Given the description of an element on the screen output the (x, y) to click on. 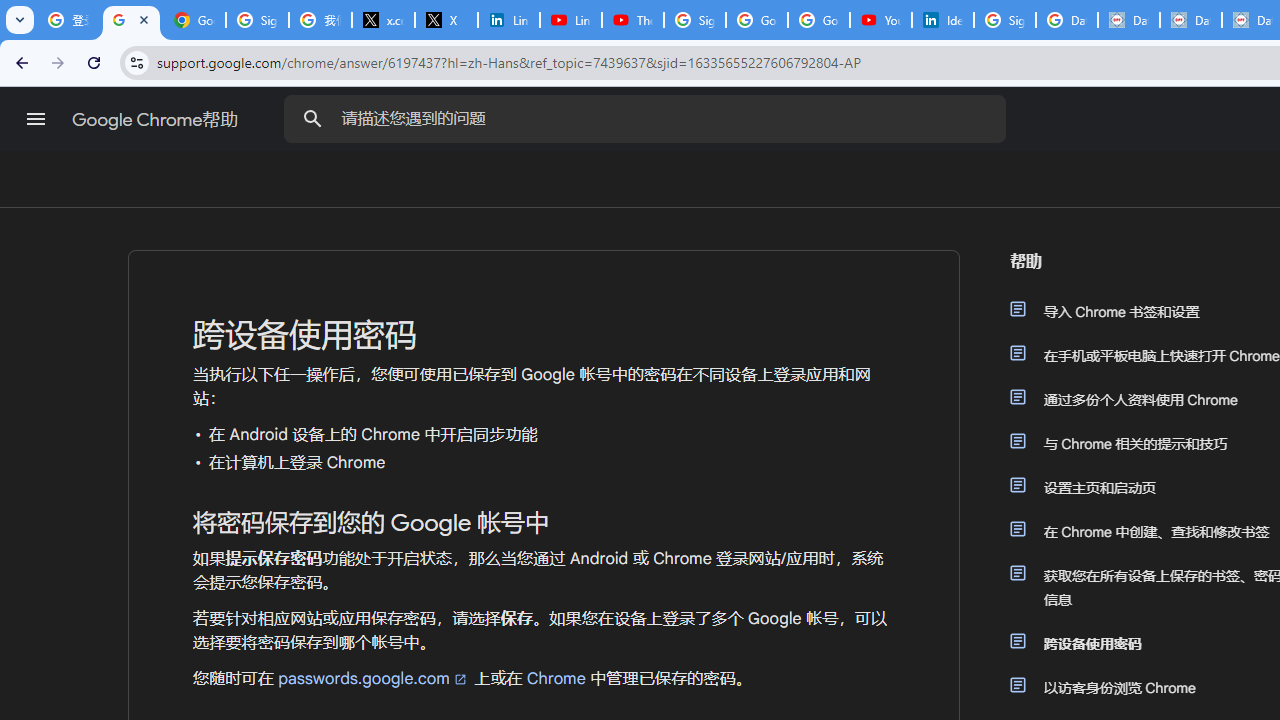
passwords.google.com (373, 678)
Sign in - Google Accounts (694, 20)
Data Privacy Framework (1128, 20)
LinkedIn - YouTube (570, 20)
LinkedIn Privacy Policy (508, 20)
Data Privacy Framework (1190, 20)
